Given the description of an element on the screen output the (x, y) to click on. 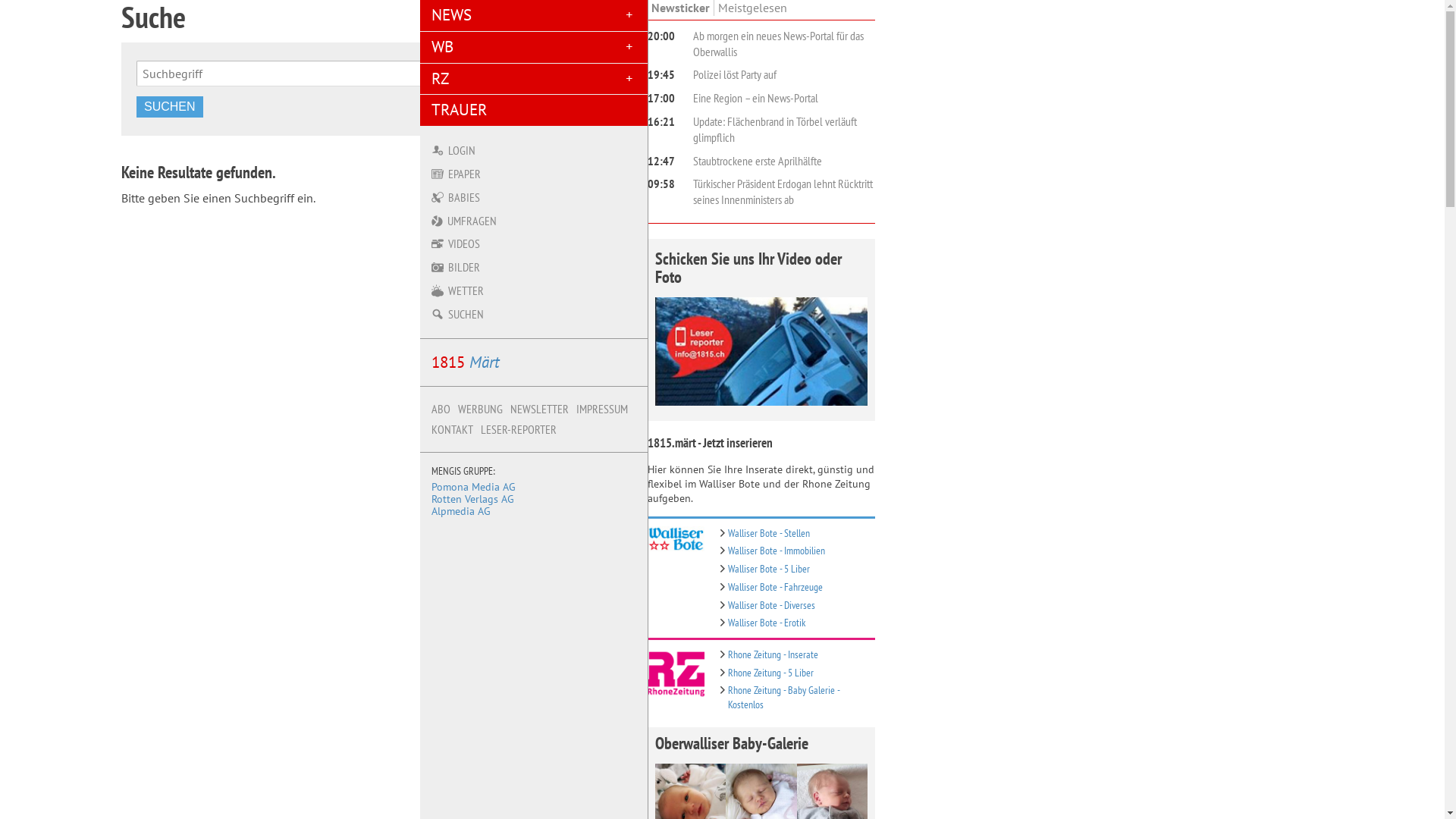
NEWS Element type: text (533, 15)
UMFRAGEN Element type: text (533, 220)
RZ Element type: text (533, 78)
EPAPER Element type: text (533, 173)
LESER-REPORTER Element type: text (518, 429)
Rotten Verlags AG Element type: text (472, 498)
Rhone Zeitung - Inserate Element type: text (773, 653)
WETTER Element type: text (533, 290)
NEWSLETTER Element type: text (539, 408)
VIDEOS Element type: text (533, 243)
LOGIN Element type: text (533, 150)
TRAUER Element type: text (533, 109)
SUCHEN Element type: text (169, 106)
WERBUNG Element type: text (480, 408)
Pomona Media AG Element type: text (473, 486)
IMPRESSUM Element type: text (601, 408)
Meistgelesen Element type: text (752, 7)
Walliser Bote - 5 Liber Element type: text (768, 568)
Walliser Bote - Immobilien Element type: text (776, 549)
Alpmedia AG Element type: text (460, 510)
ABO Element type: text (440, 408)
WB Element type: text (533, 46)
Rhone Zeitung - 5 Liber Element type: text (770, 672)
BABIES Element type: text (533, 197)
Walliser Bote - Erotik Element type: text (766, 622)
Newsticker Element type: text (680, 7)
SUCHEN Element type: text (533, 314)
KONTAKT Element type: text (451, 429)
Walliser Bote - Diverses Element type: text (771, 604)
BILDER Element type: text (533, 267)
Walliser Bote - Fahrzeuge Element type: text (775, 586)
Walliser Bote - Stellen Element type: text (768, 532)
Rhone Zeitung - Baby Galerie - Kostenlos Element type: text (783, 696)
